Given the description of an element on the screen output the (x, y) to click on. 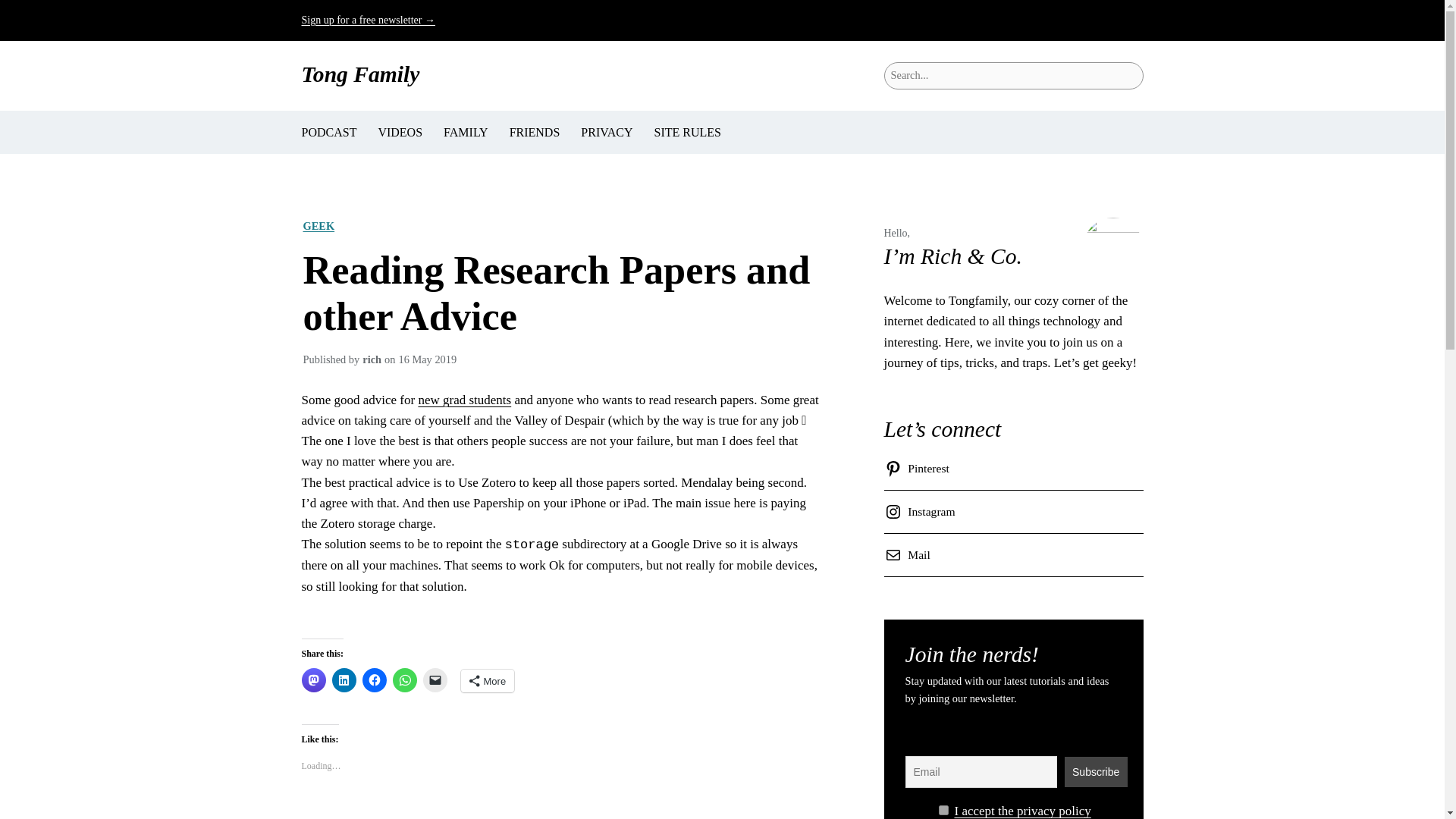
Click to share on Facebook (374, 680)
new grad students (464, 400)
Tong Family (360, 74)
16 May 2019 (427, 358)
Click to share on WhatsApp (404, 680)
Subscribe (1095, 771)
Pinterest (919, 468)
Click to email a link to a friend (434, 680)
Instagram (921, 511)
More (488, 680)
Reading Research Papers and other Advice (560, 293)
Click to share on LinkedIn (343, 680)
SITE RULES (686, 132)
on (944, 809)
VIDEOS (399, 132)
